Given the description of an element on the screen output the (x, y) to click on. 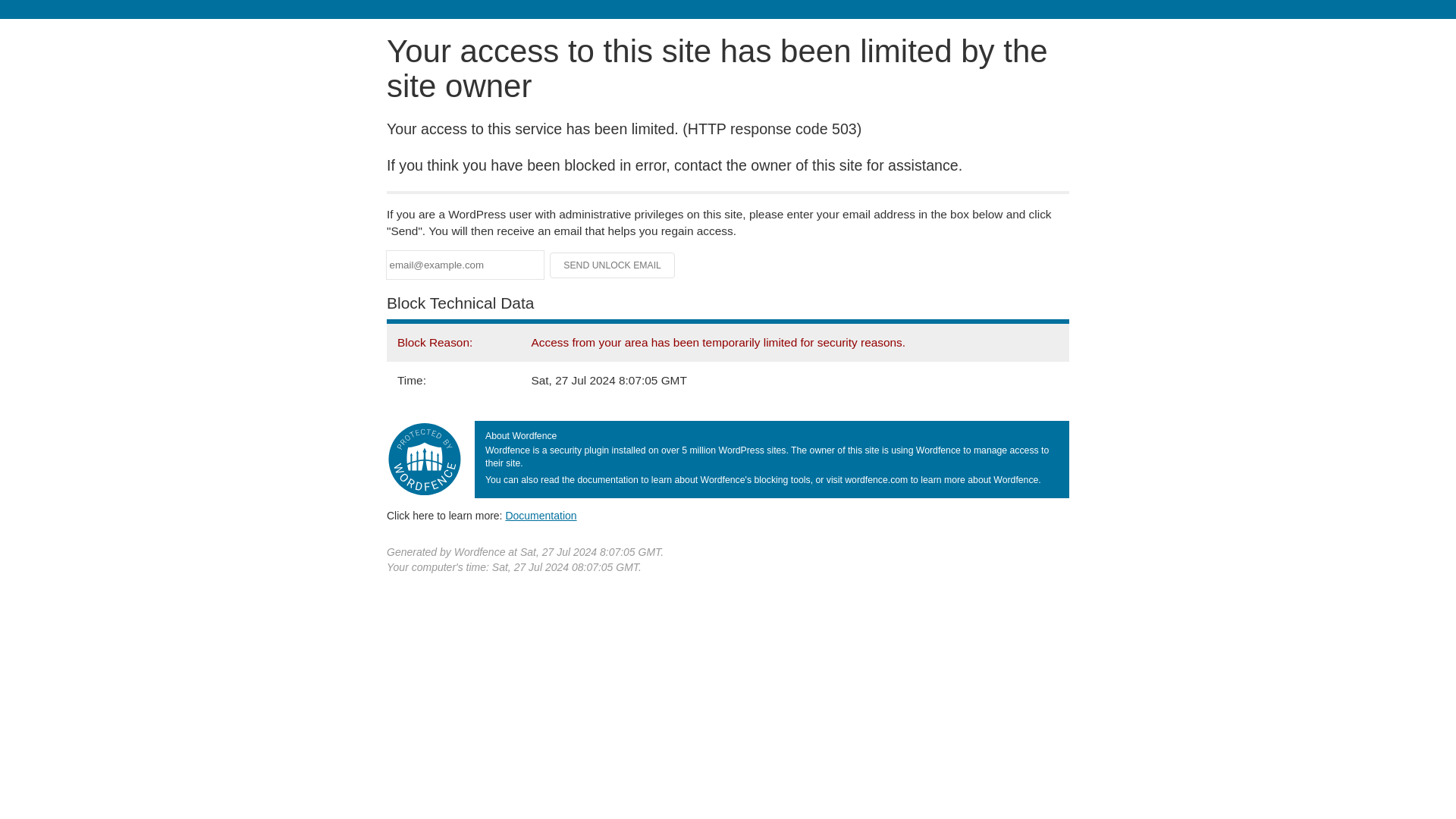
Send Unlock Email (612, 265)
Send Unlock Email (612, 265)
Documentation (540, 515)
